Given the description of an element on the screen output the (x, y) to click on. 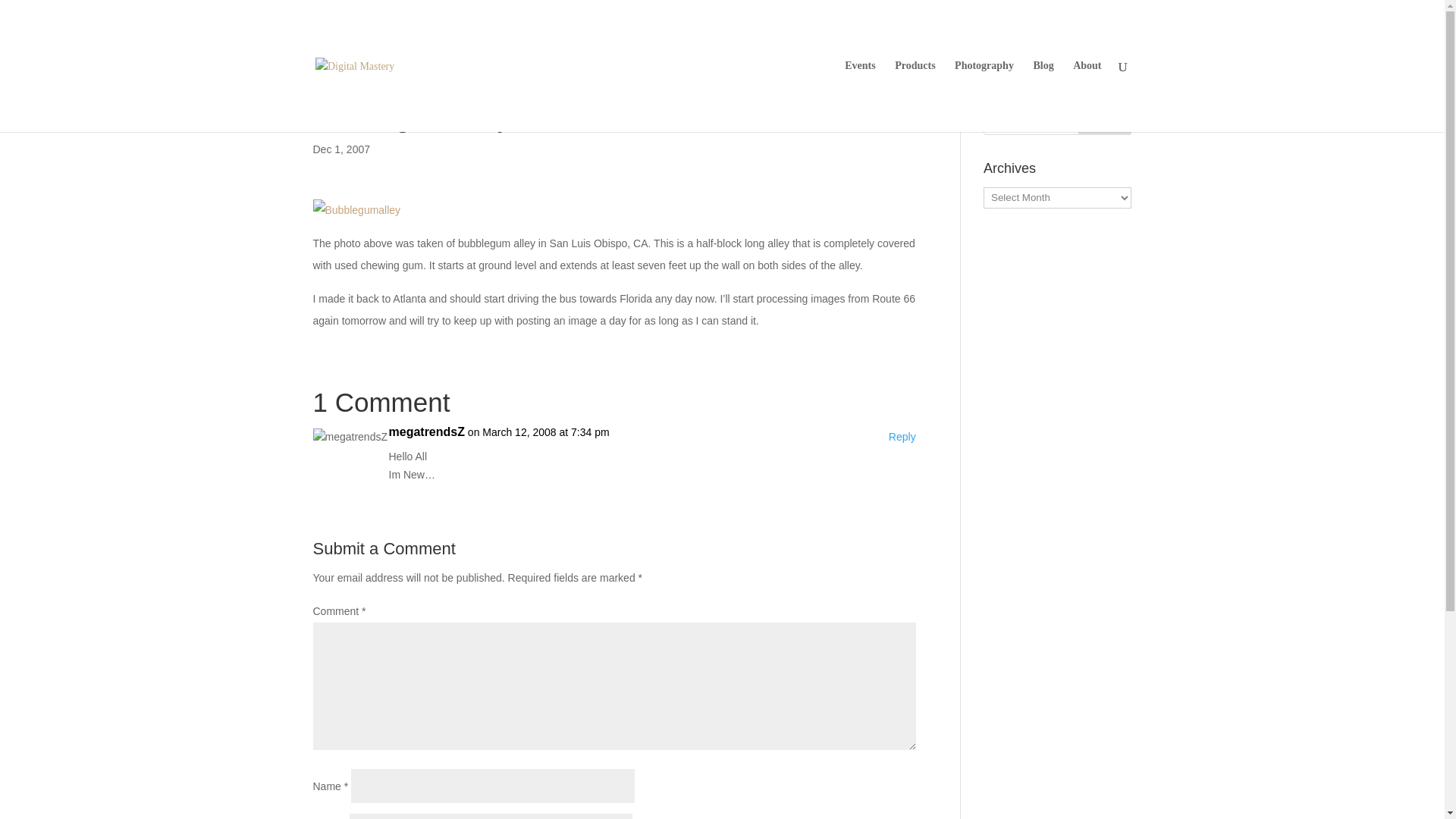
Reply (901, 437)
Search (1104, 119)
Bubblegumalley (356, 210)
Search (1104, 119)
megatrendsZ (426, 432)
